Given the description of an element on the screen output the (x, y) to click on. 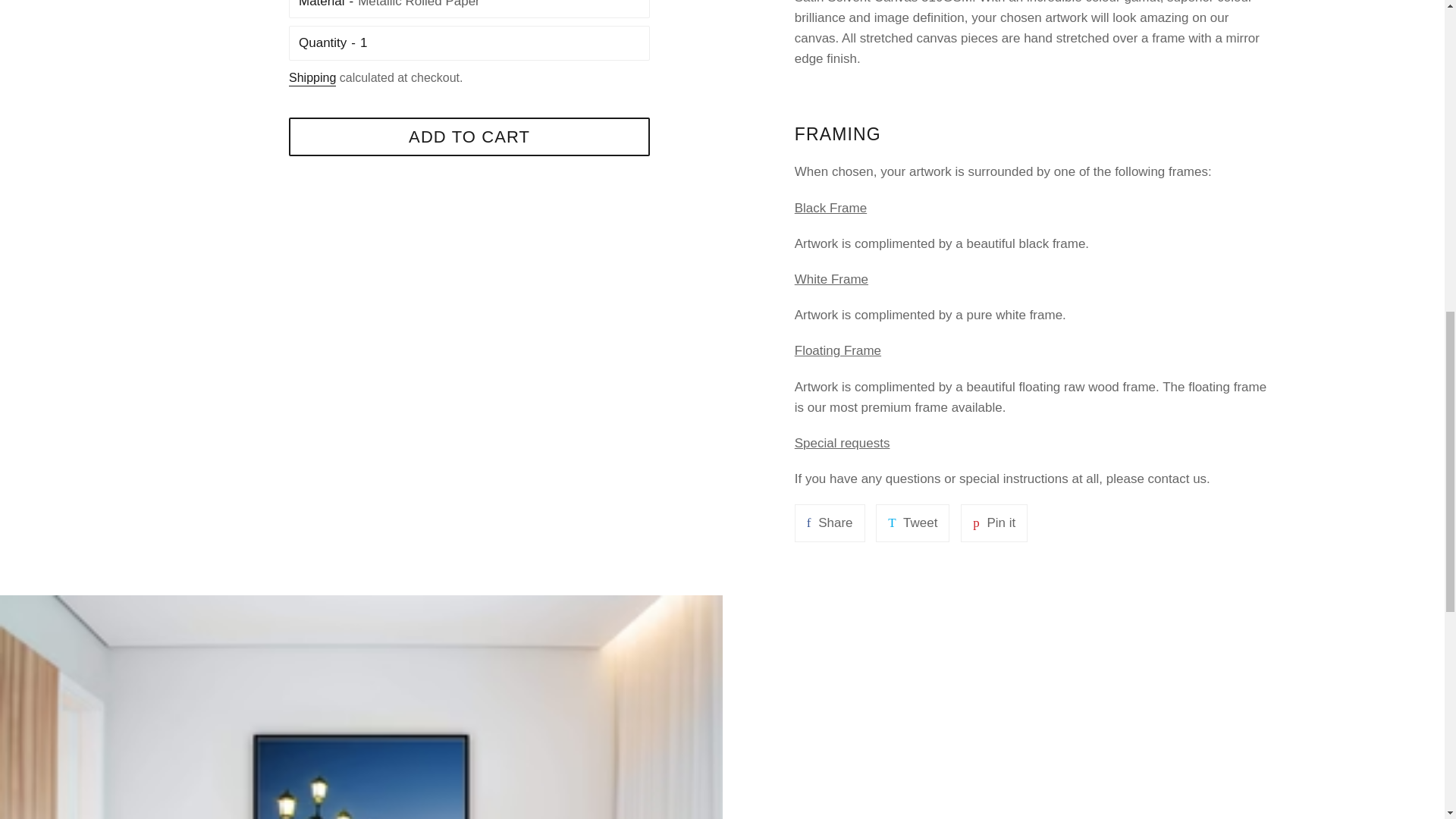
ADD TO CART (468, 136)
Tweet on Twitter (829, 522)
Shipping (912, 522)
1 (312, 78)
Share on Facebook (500, 42)
Pin on Pinterest (912, 522)
